Given the description of an element on the screen output the (x, y) to click on. 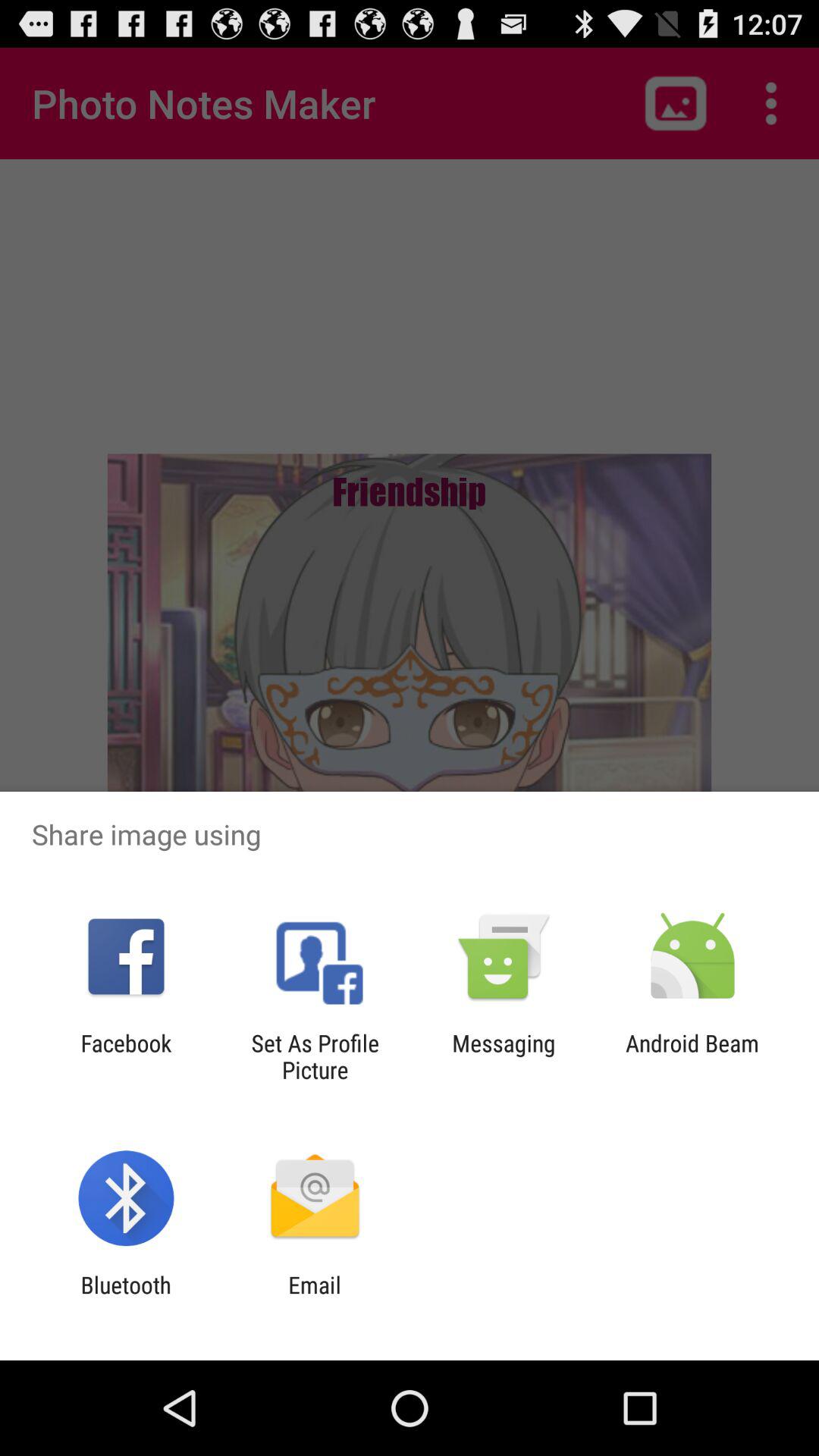
click icon to the left of the messaging icon (314, 1056)
